Given the description of an element on the screen output the (x, y) to click on. 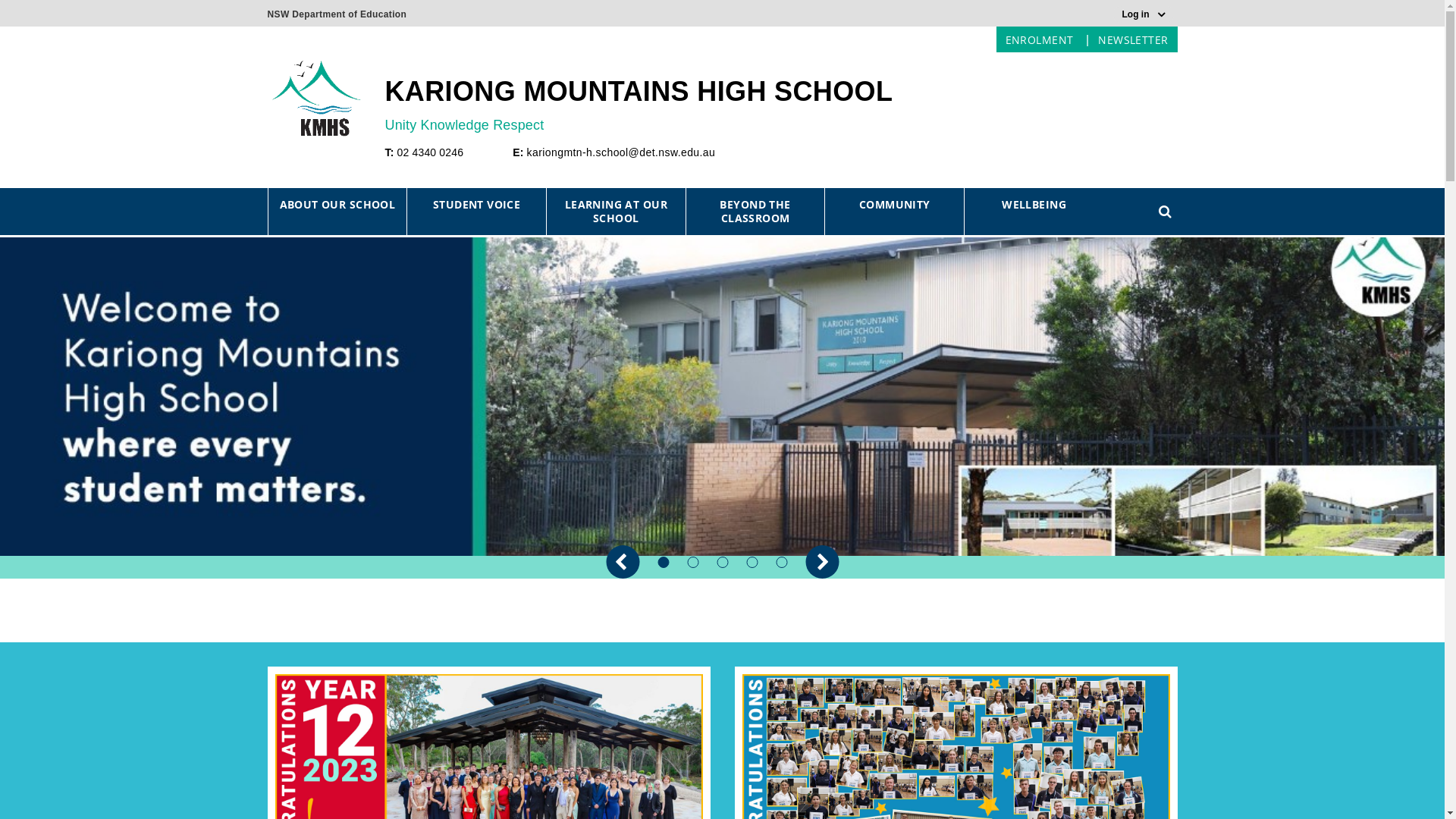
NEWSLETTER Element type: text (1132, 39)
WELLBEING Element type: text (1033, 204)
LEARNING AT OUR SCHOOL Element type: text (615, 211)
ENROLMENT Element type: text (1039, 39)
BEYOND THE CLASSROOM Element type: text (755, 211)
kariongmtn-h.school@det.nsw.edu.au Element type: text (621, 152)
Log in Element type: text (1143, 14)
COMMUNITY Element type: text (894, 204)
STUDENT VOICE Element type: text (476, 204)
ABOUT OUR SCHOOL Element type: text (337, 204)
NSW Department of Education Element type: hover (336, 10)
